Given the description of an element on the screen output the (x, y) to click on. 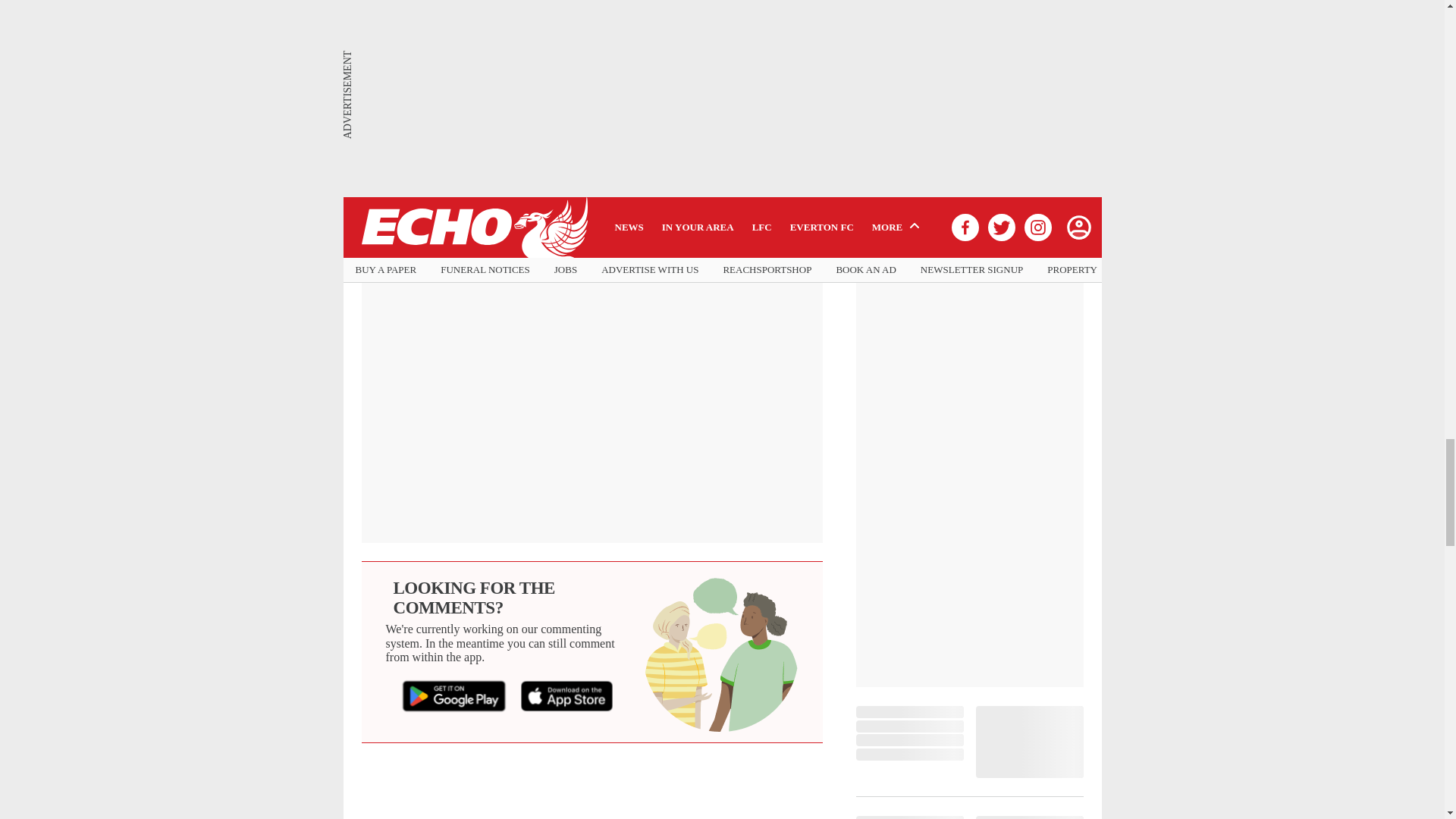
Instagram (646, 130)
Twitter (530, 130)
Facebook (420, 130)
